Given the description of an element on the screen output the (x, y) to click on. 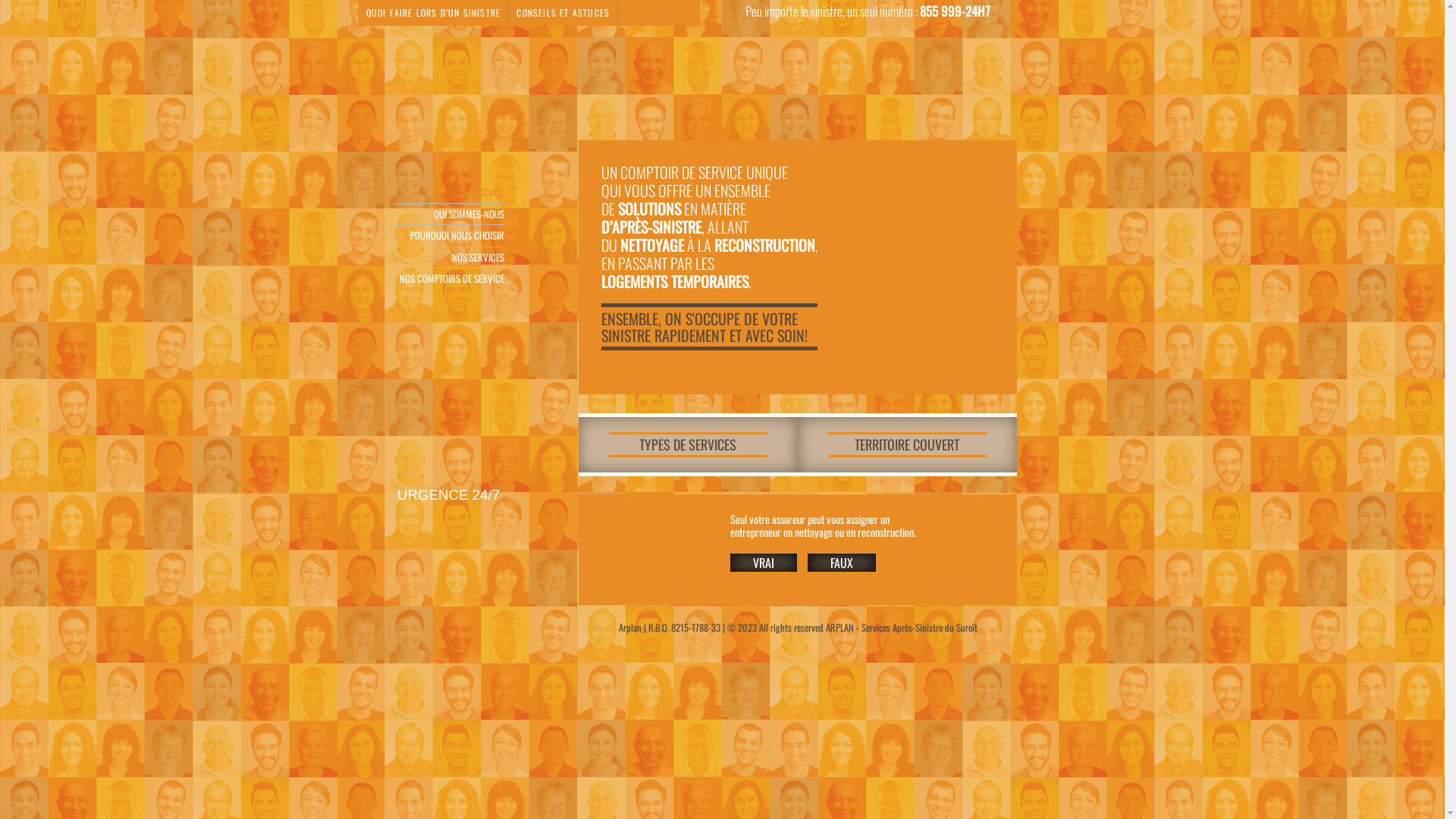
ACCUEIL Element type: text (447, 192)
VRAI Element type: text (762, 562)
NOS SERVICES Element type: text (447, 258)
QUI SOMMES-NOUS Element type: text (447, 214)
NOS COMPTOIRS DE SERVICE Element type: text (447, 278)
POURQUOI NOUS CHOISIR Element type: text (447, 236)
FAUX Element type: text (841, 562)
TYPES DE SERVICES Element type: text (687, 448)
URGENCE 24/7 Element type: text (448, 494)
TERRITOIRE COUVERT Element type: text (906, 448)
CONSEILS ET ASTUCES Element type: text (562, 12)
